Given the description of an element on the screen output the (x, y) to click on. 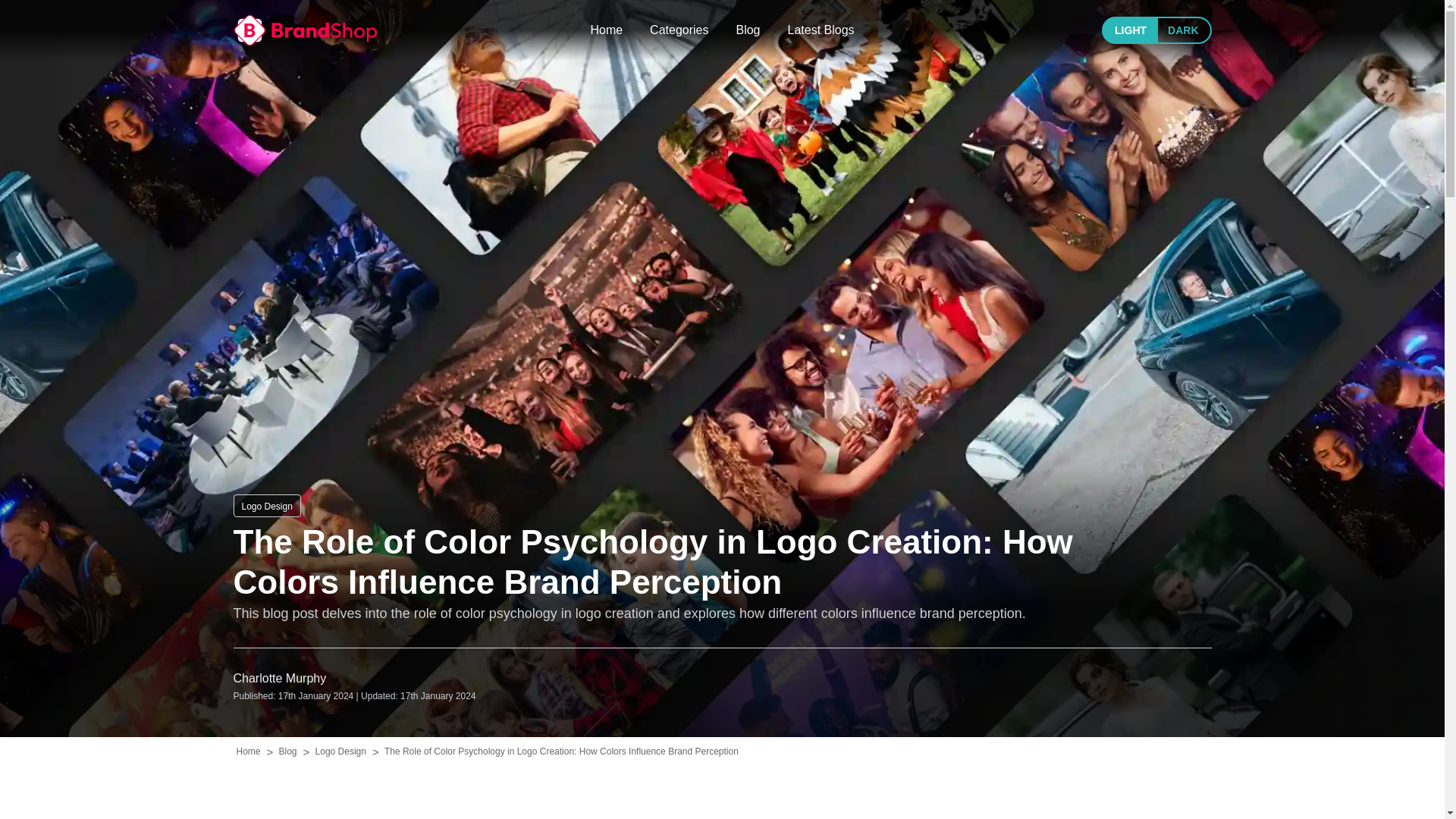
Categories (678, 30)
Categories (678, 30)
Brand Shop (304, 29)
Latest Blogs (820, 30)
Latest Blogs (820, 30)
